Given the description of an element on the screen output the (x, y) to click on. 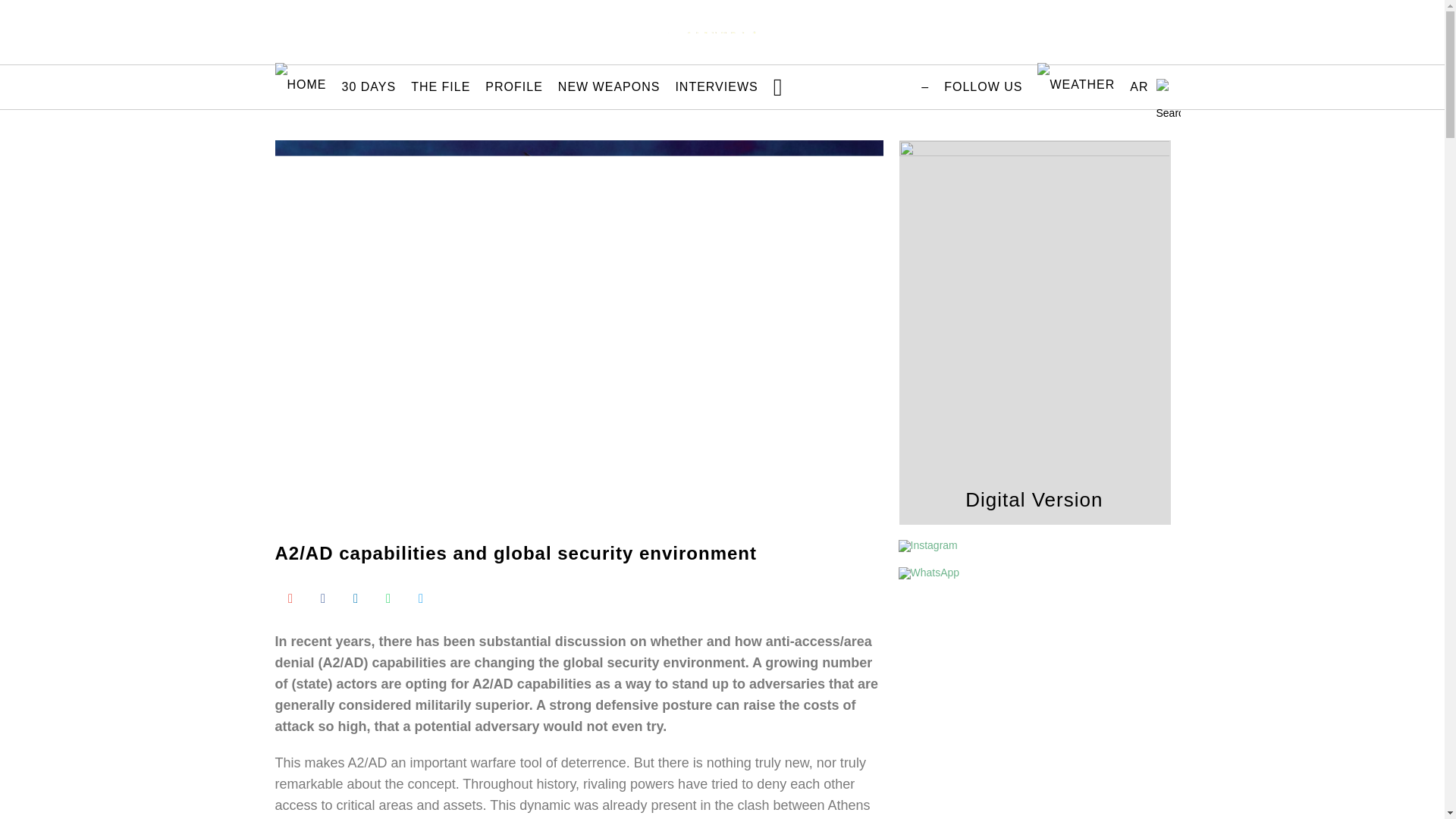
30 DAYS (368, 86)
